Given the description of an element on the screen output the (x, y) to click on. 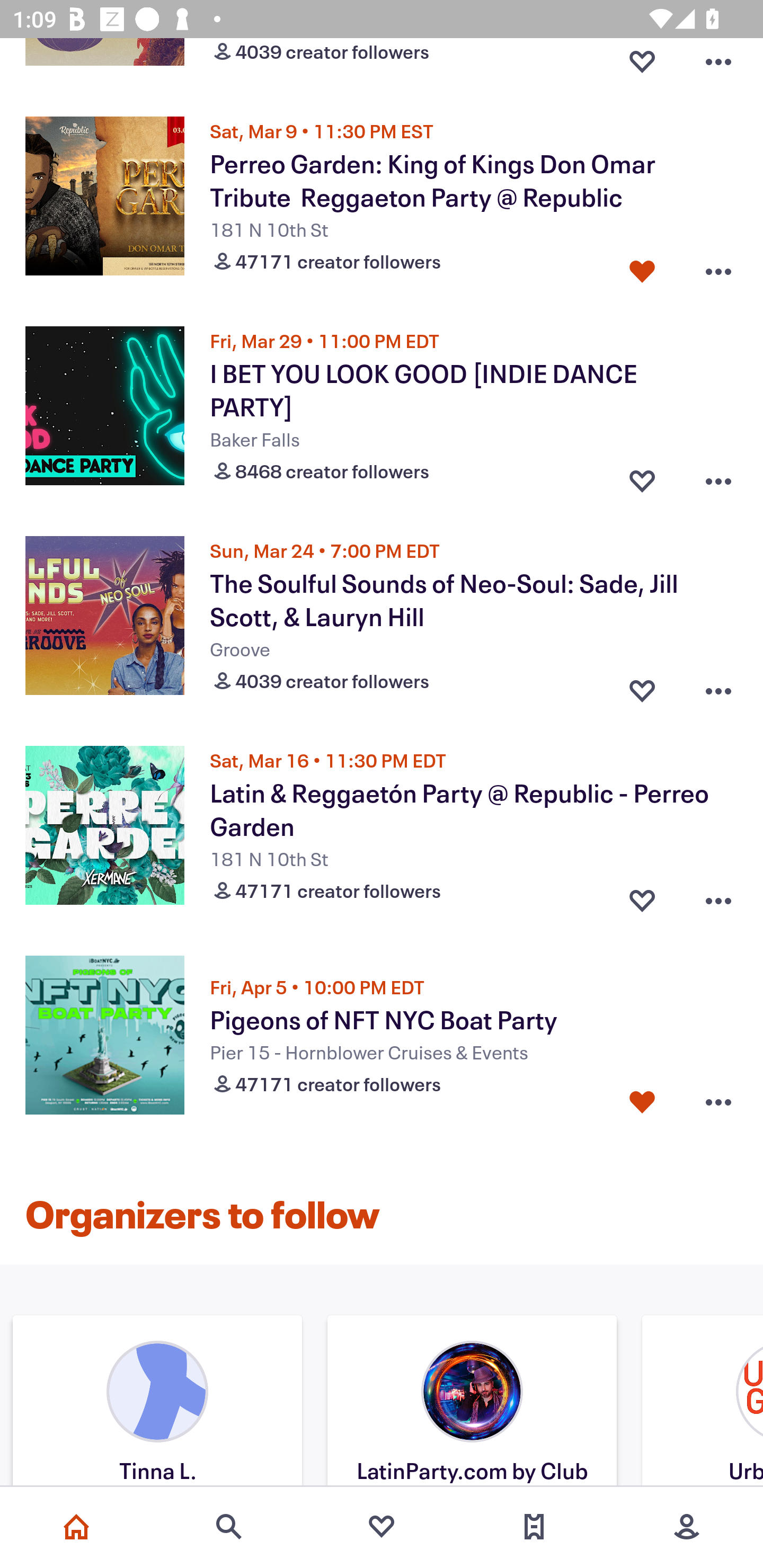
Home (76, 1526)
Search events (228, 1526)
Favorites (381, 1526)
Tickets (533, 1526)
More (686, 1526)
